Given the description of an element on the screen output the (x, y) to click on. 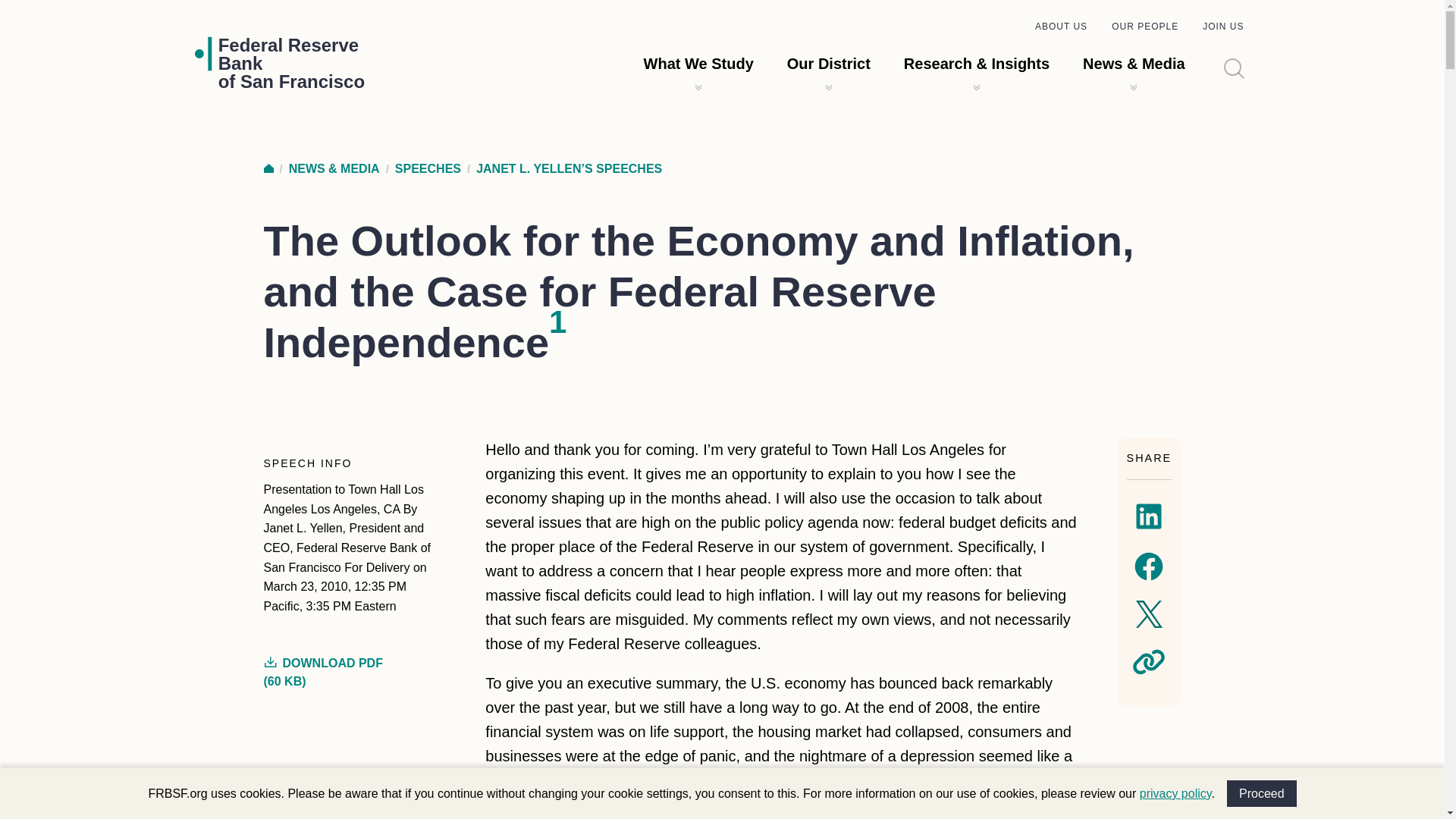
JOIN US (1222, 26)
What We Study (291, 63)
Proceed (698, 63)
Our District (1262, 793)
HOME (828, 63)
ABOUT US (268, 167)
privacy policy (1061, 26)
OUR PEOPLE (1175, 793)
